Given the description of an element on the screen output the (x, y) to click on. 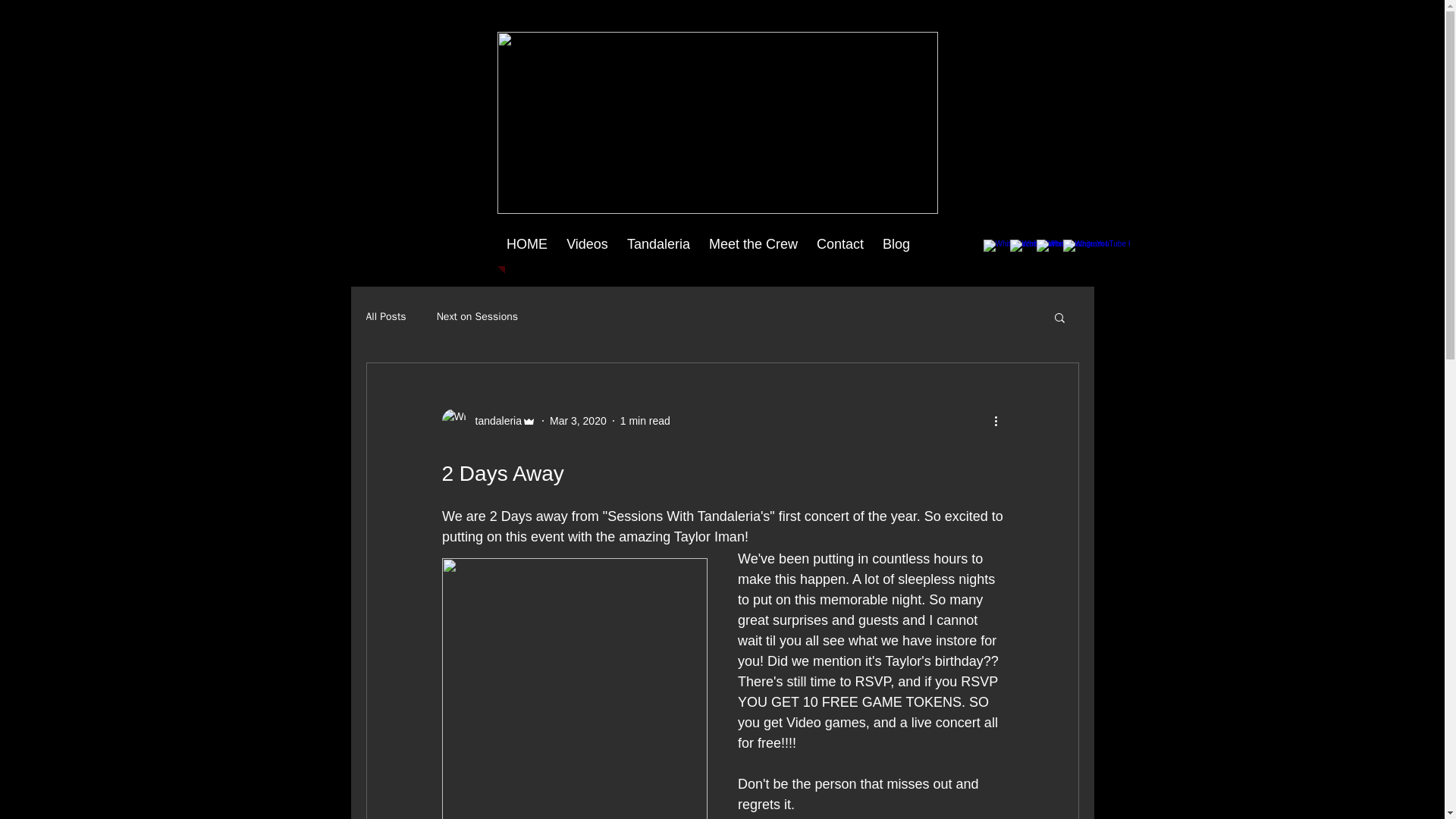
tandaleria (493, 420)
Meet the Crew (752, 244)
All Posts (385, 316)
Mar 3, 2020 (578, 419)
tandaleria (488, 420)
Blog (896, 244)
Next on Sessions (477, 316)
Videos (586, 244)
1 min read (644, 419)
HOME (527, 244)
